Given the description of an element on the screen output the (x, y) to click on. 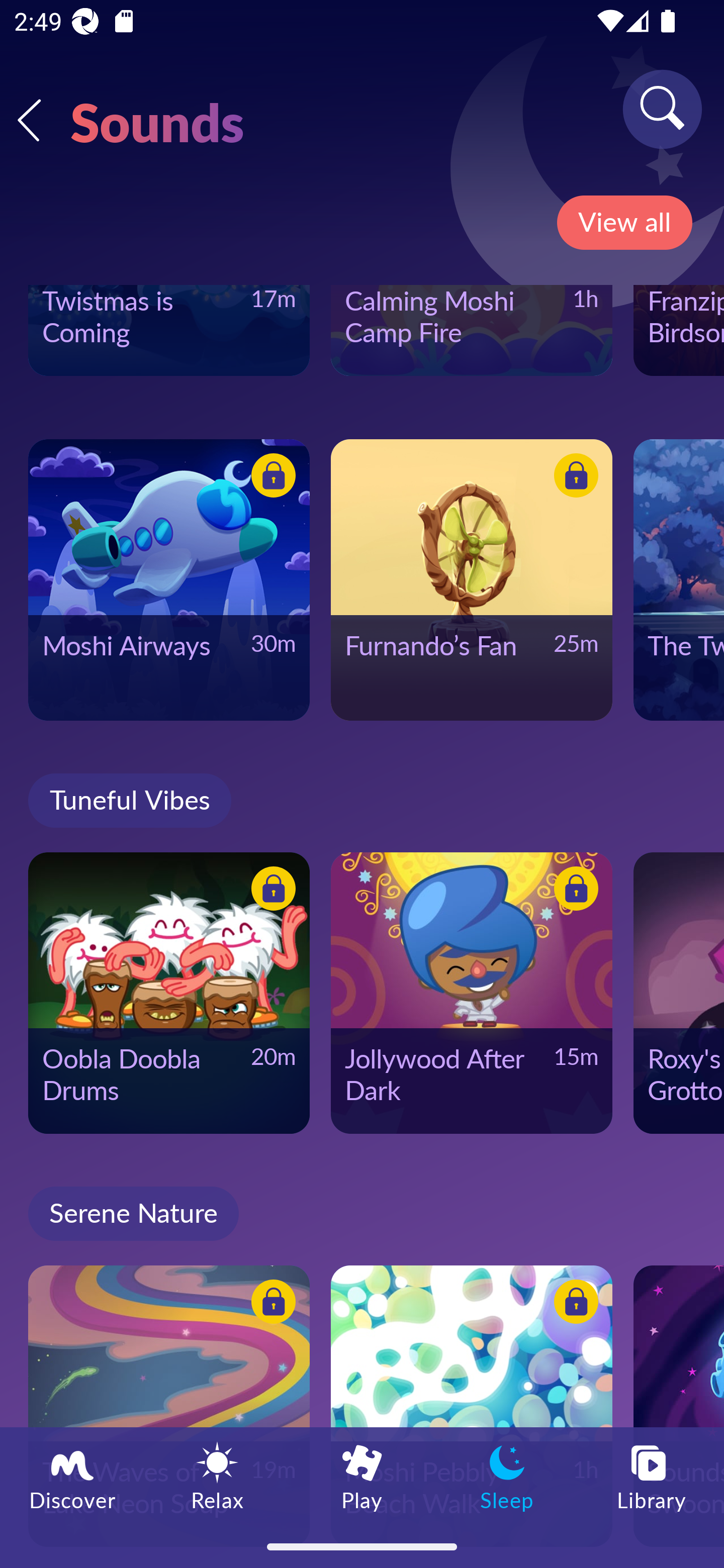
View all (624, 222)
Featured Content Button Twistmas is Coming 17m (168, 330)
Featured Content Button Calming Moshi Camp Fire 1h (471, 330)
Featured Content Button Moshi Airways 30m (168, 580)
Button (269, 478)
Featured Content Button Furnando’s Fan 25m (471, 580)
Button (573, 478)
Featured Content Button Oobla Doobla Drums 20m (168, 992)
Button (269, 891)
Featured Content Button Jollywood After Dark 15m (471, 992)
Button (573, 891)
Button (269, 1304)
Featured Content Button Moshi Pebbly Beach Walk 1h (471, 1406)
Button (573, 1304)
Discover (72, 1475)
Relax (216, 1475)
Play (361, 1475)
Library (651, 1475)
